Given the description of an element on the screen output the (x, y) to click on. 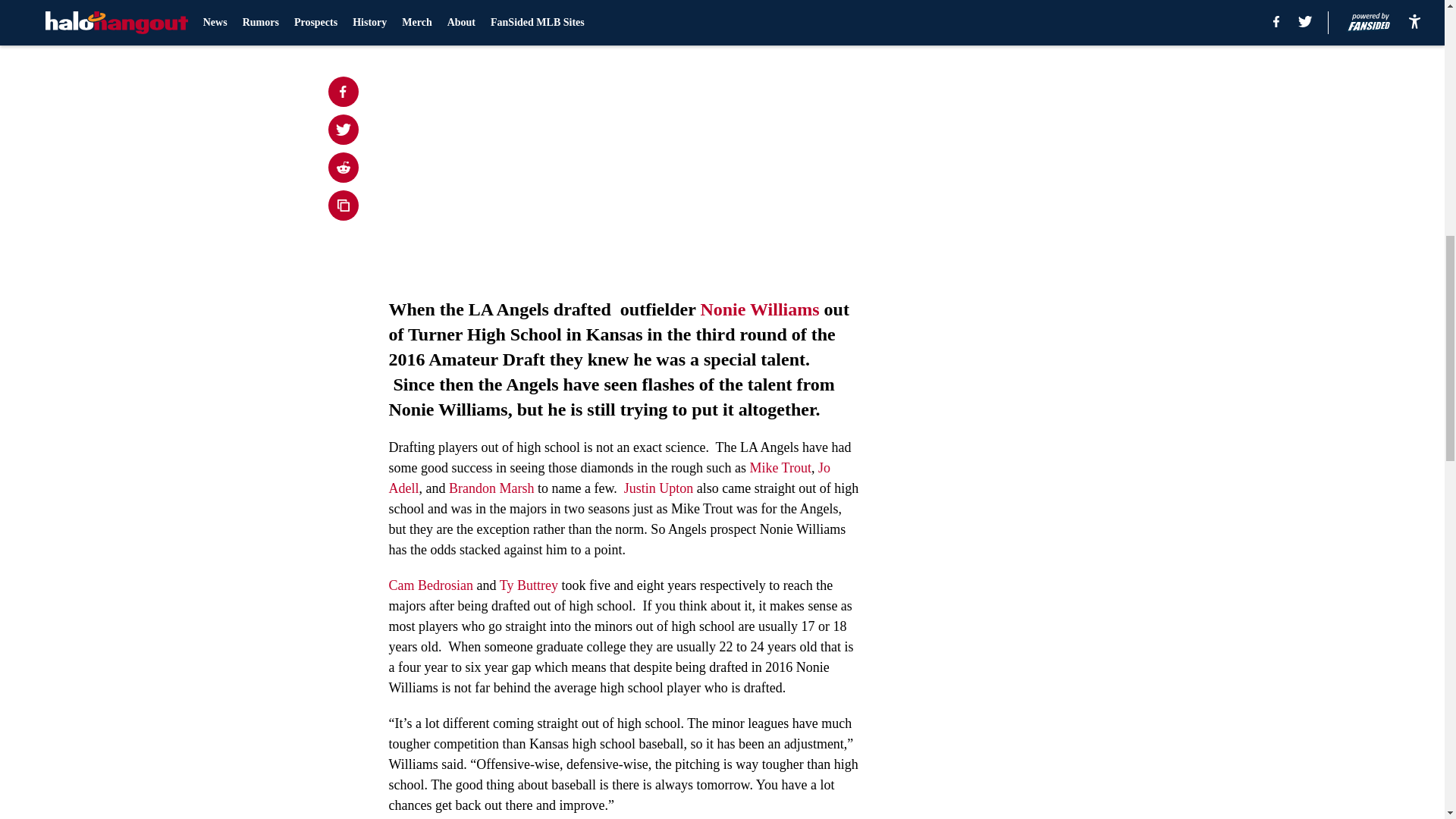
Jo Adell (608, 478)
Nonie Williams (759, 309)
Justin Upton (659, 488)
Ty Buttrey (528, 585)
Brandon Marsh (491, 488)
Mike Trout (779, 467)
Cam Bedrosian (429, 585)
